Given the description of an element on the screen output the (x, y) to click on. 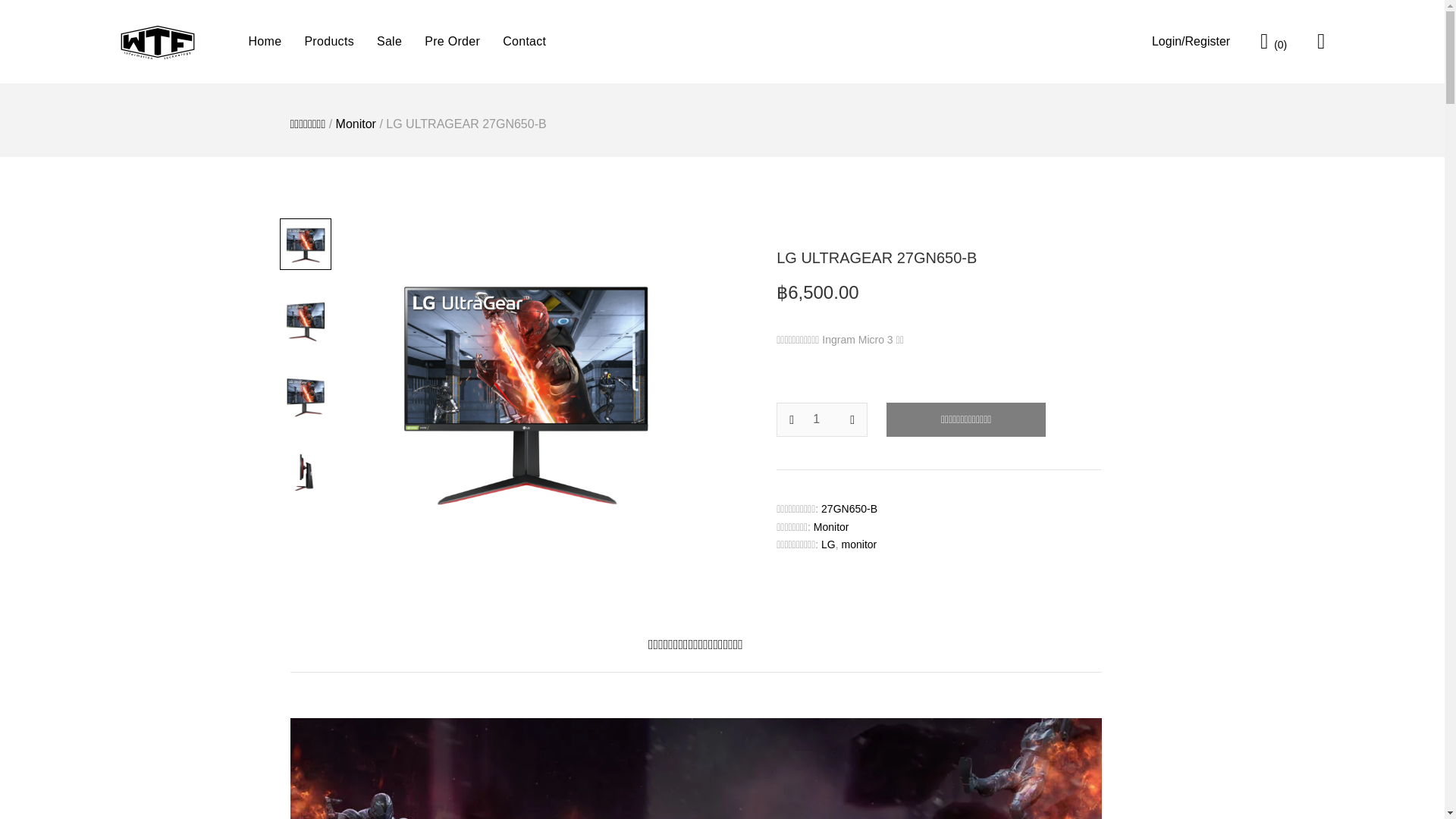
Home (265, 41)
Sale (389, 41)
Contact (524, 41)
Pre Order (452, 41)
Monitor (830, 526)
1 (821, 419)
monitor (859, 544)
LG (828, 544)
Monitor (355, 123)
Products (328, 41)
Login (1190, 41)
